Given the description of an element on the screen output the (x, y) to click on. 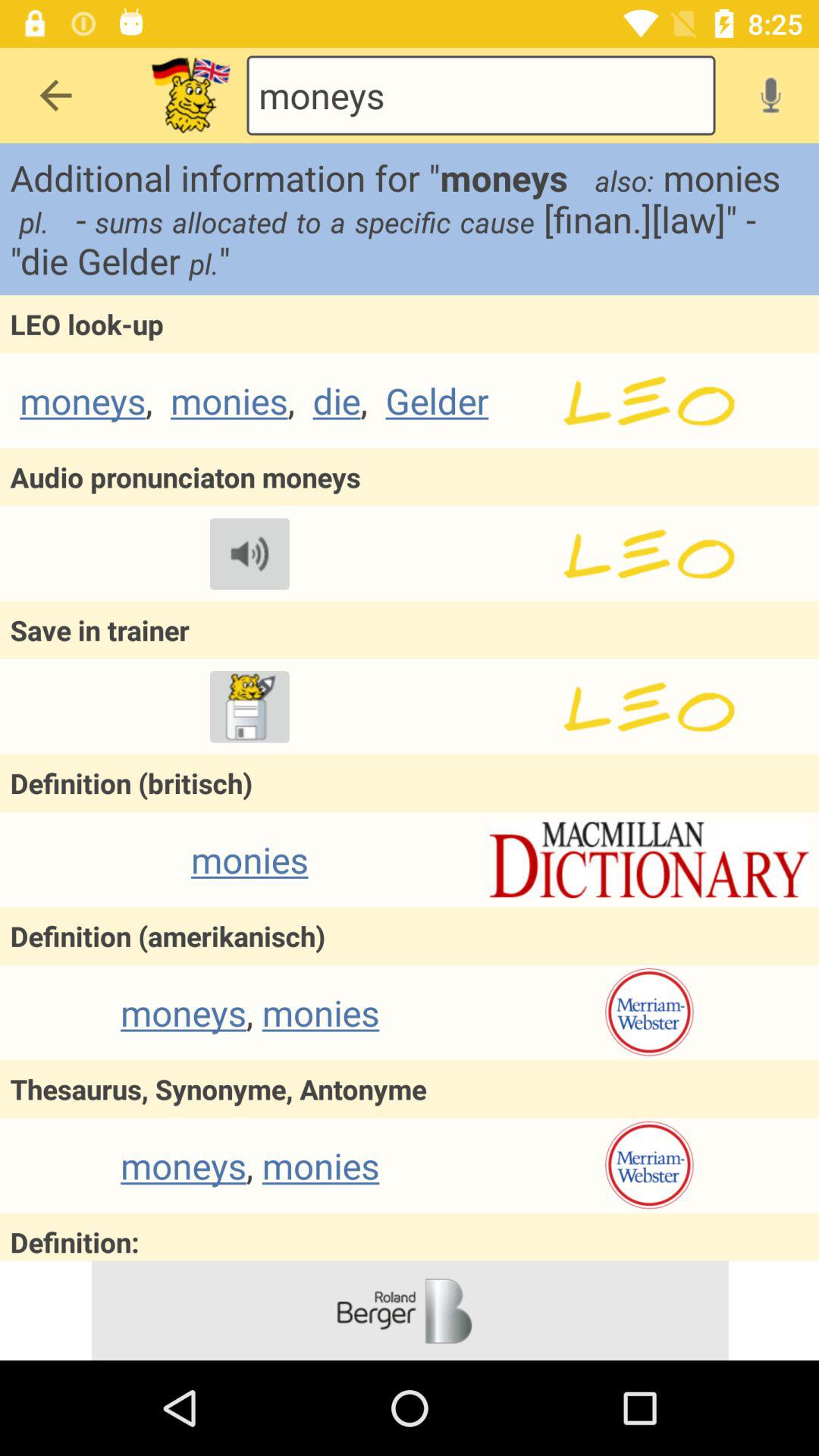
settings (648, 1012)
